Given the description of an element on the screen output the (x, y) to click on. 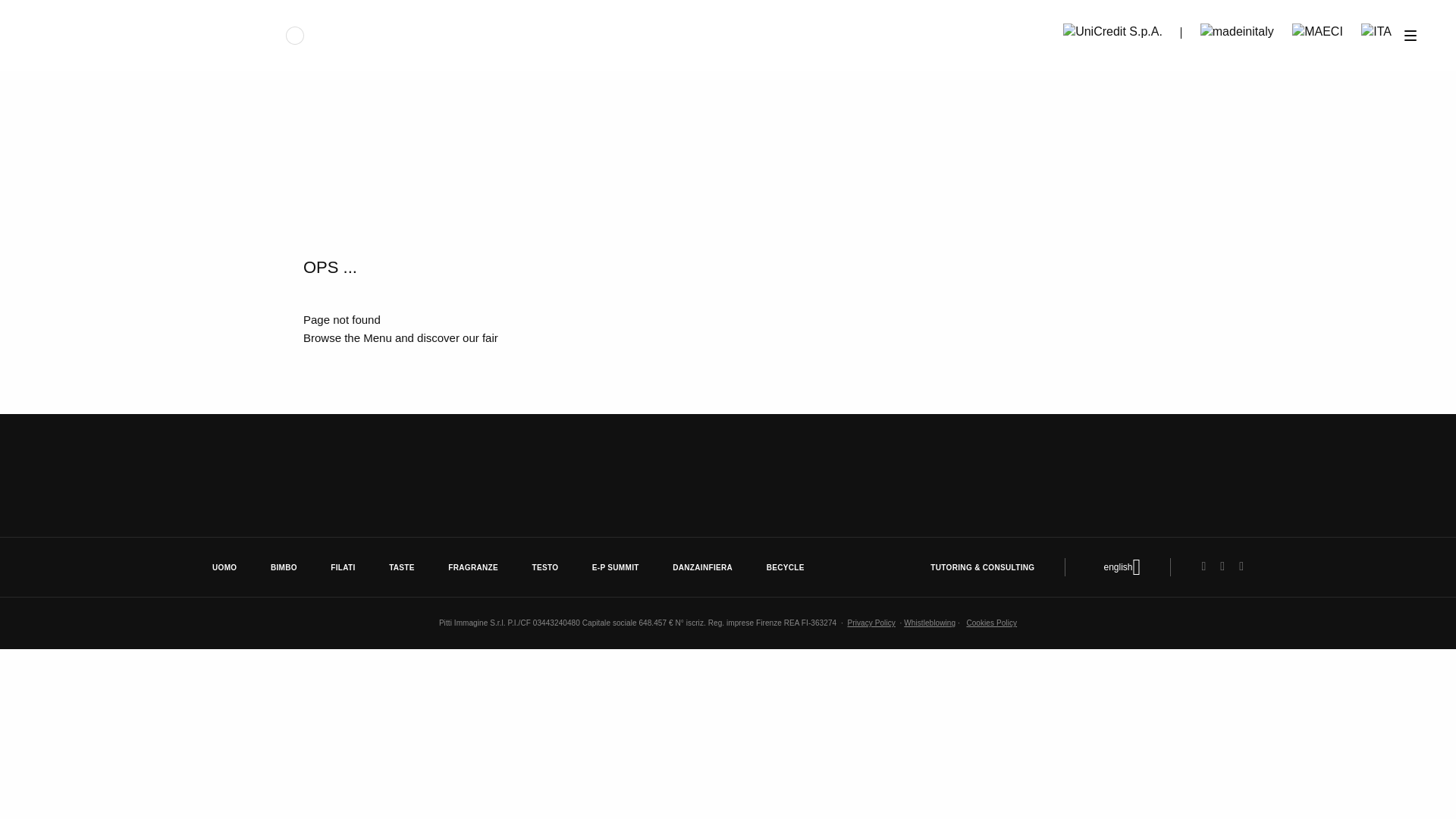
BECYCLE (786, 567)
FRAGRANZE (472, 567)
TASTE (401, 567)
Cookies Policy (991, 623)
Whistleblowing (929, 623)
FILATI (342, 567)
BIMBO (283, 567)
Privacy Policy (871, 623)
E-P SUMMIT (615, 567)
TESTO (544, 567)
UOMO (223, 567)
DANZAINFIERA (702, 567)
